Given the description of an element on the screen output the (x, y) to click on. 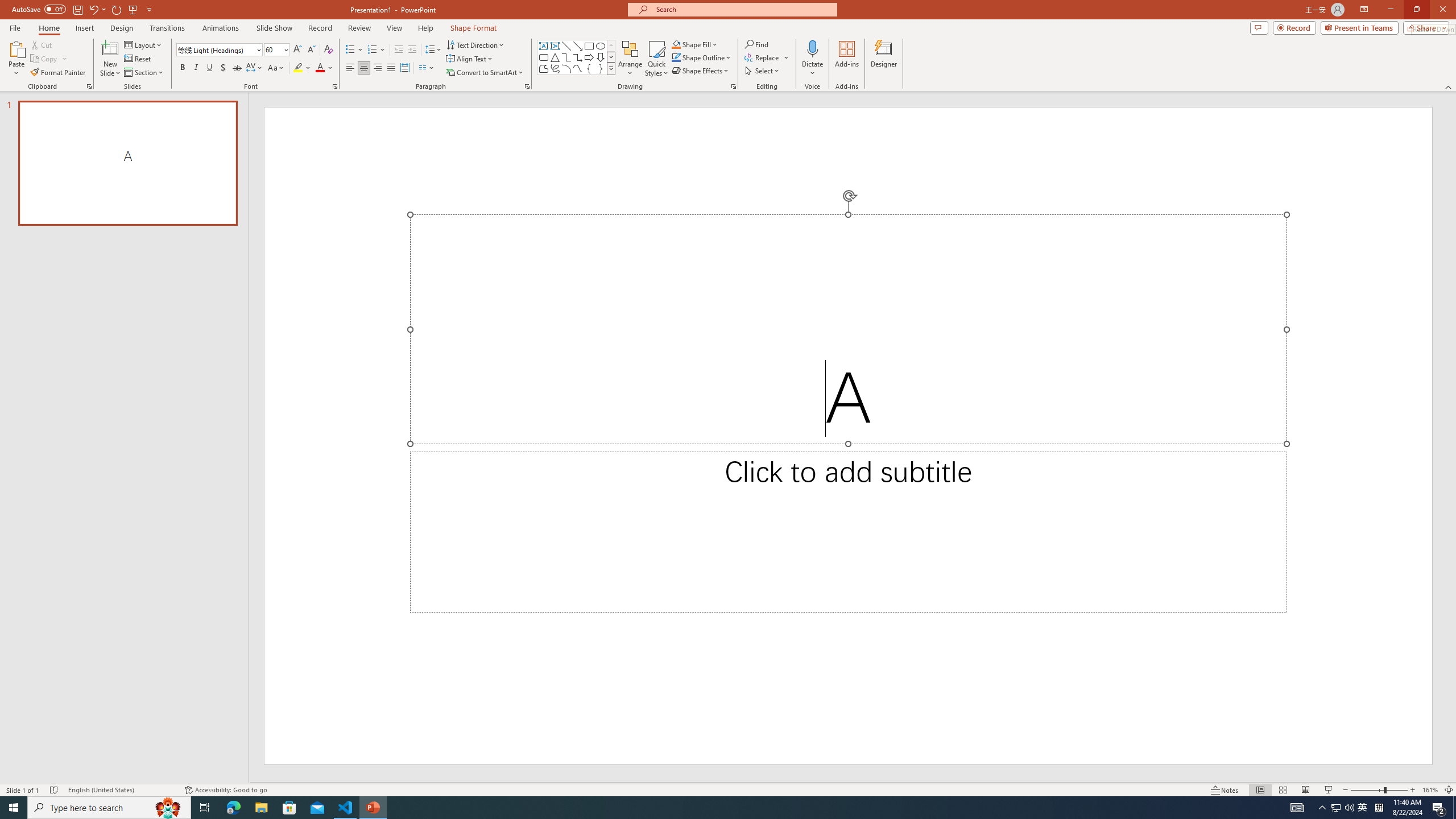
Accessibility Checker Accessibility: Good to go (226, 790)
